Given the description of an element on the screen output the (x, y) to click on. 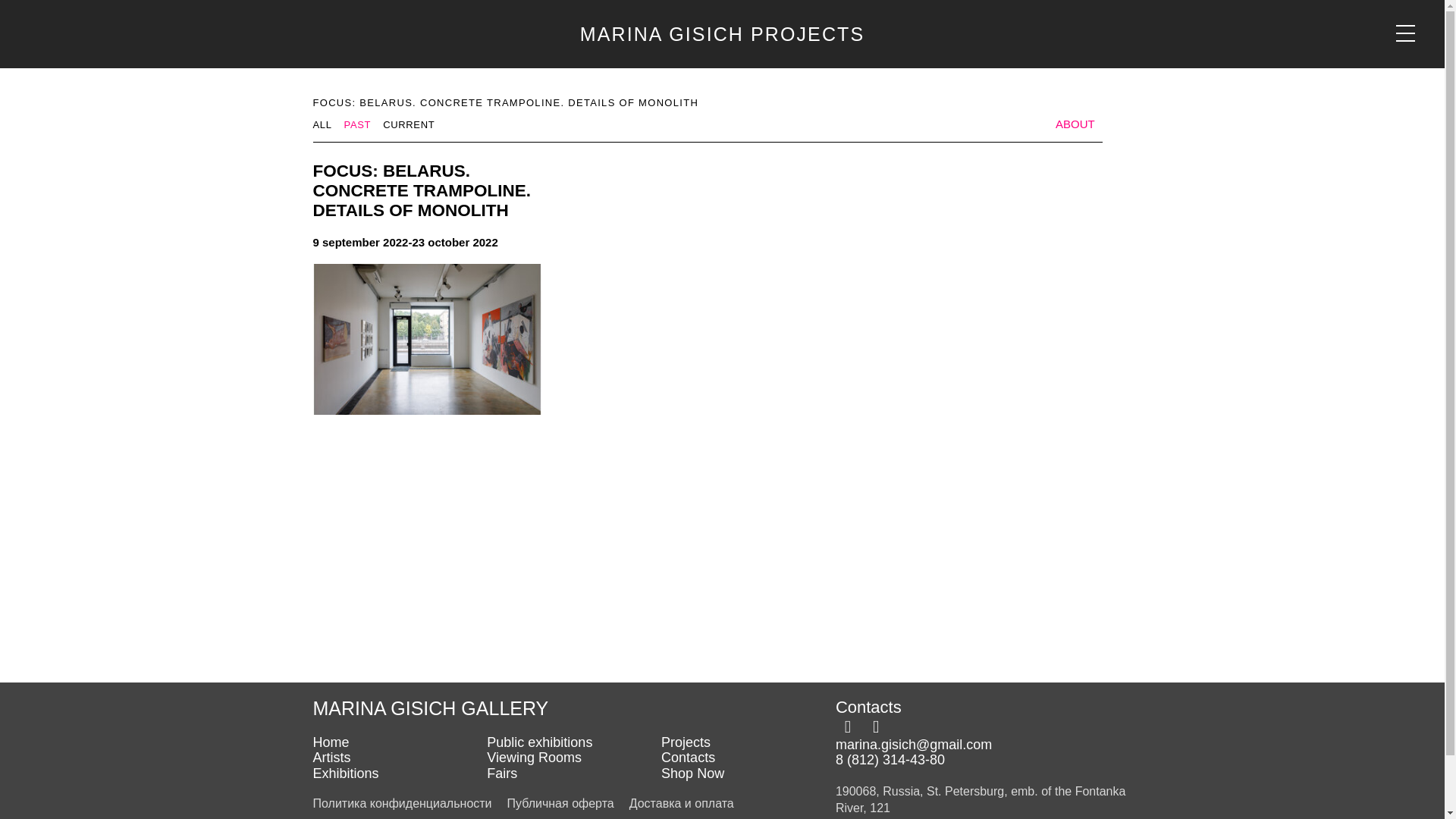
Artists (399, 757)
Exhibitions (399, 773)
MARINA GISICH PROJECTS (721, 34)
CURRENT (407, 124)
Facebook (847, 726)
ALL (322, 124)
Projects (748, 742)
Public exhibitions (573, 742)
Shop Now (748, 773)
PAST (357, 124)
